Given the description of an element on the screen output the (x, y) to click on. 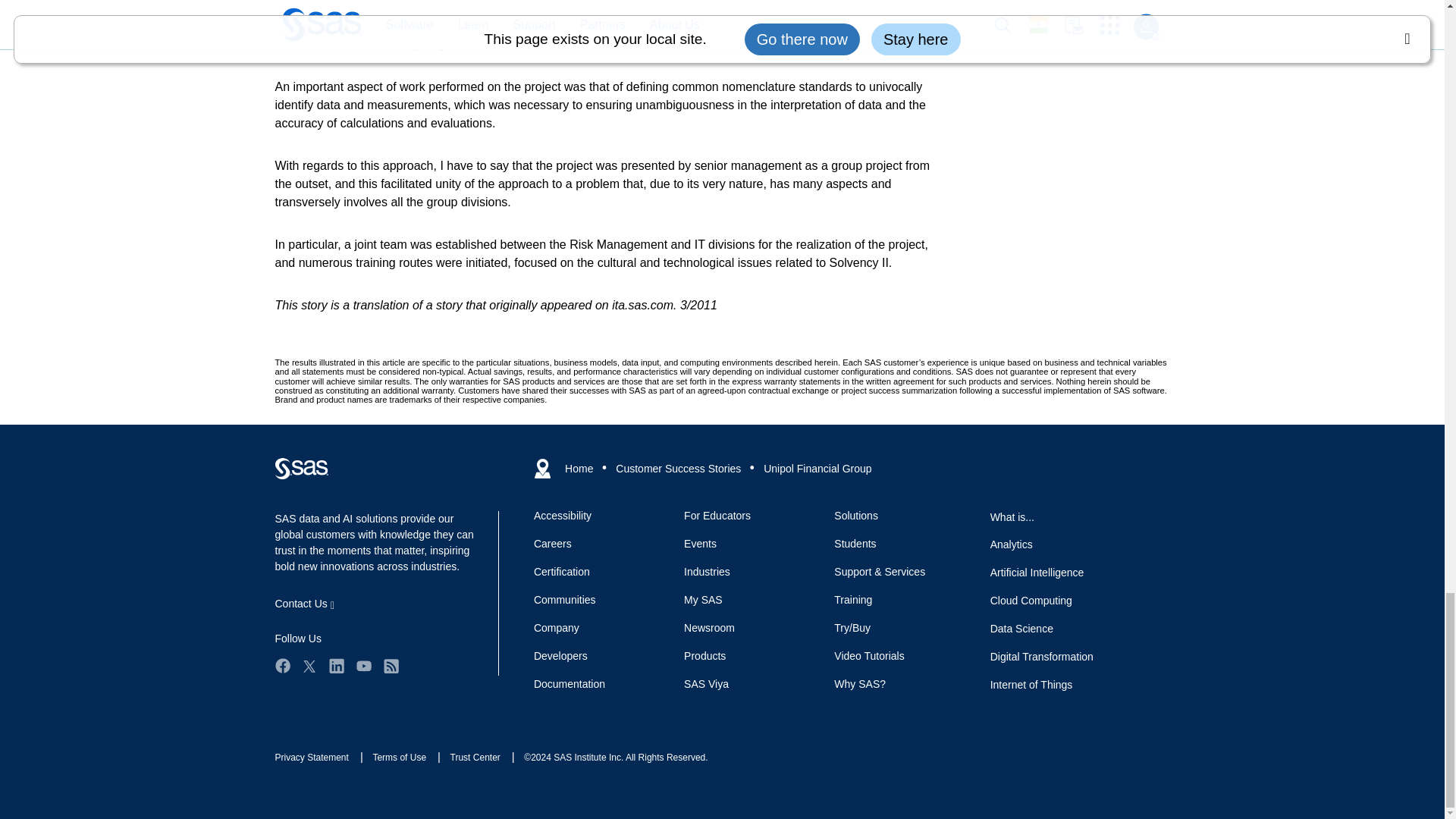
Web (301, 468)
